Given the description of an element on the screen output the (x, y) to click on. 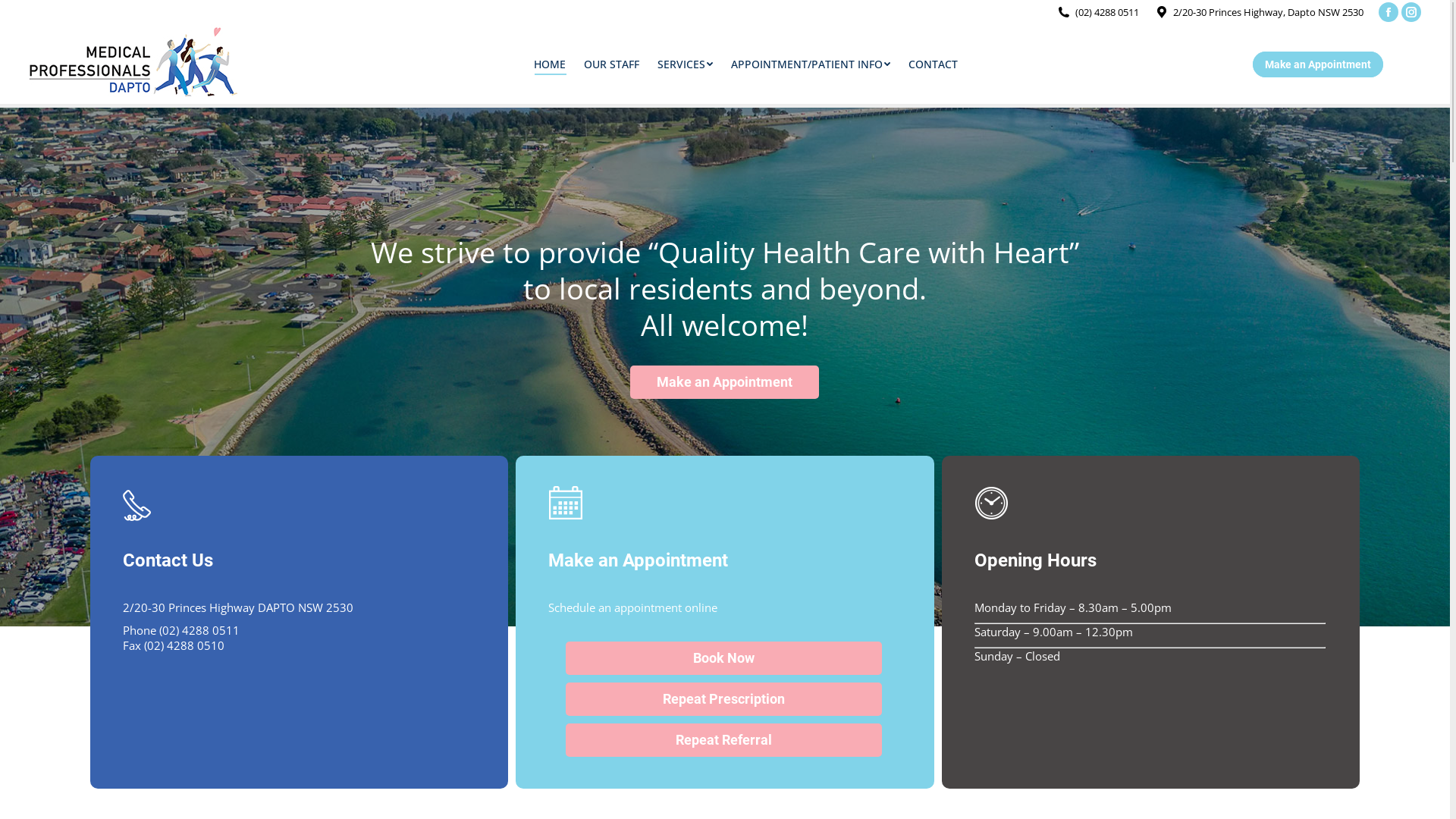
Make an Appointment Element type: text (724, 381)
Book Now Element type: text (723, 657)
h1-custom-icon-7 Element type: hover (137, 503)
Make an Appointment Element type: text (1317, 64)
APPOINTMENT/PATIENT INFO Element type: text (810, 63)
Facebook page opens in new window Element type: text (1388, 11)
CONTACT Element type: text (932, 63)
h1-custom-icon-9 Element type: hover (991, 503)
Repeat Prescription Element type: text (723, 698)
SERVICES Element type: text (684, 63)
OUR STAFF Element type: text (611, 63)
Instagram page opens in new window Element type: text (1411, 11)
HOME Element type: text (549, 63)
Repeat Referral Element type: text (723, 739)
h1-custom-icon-8 Element type: hover (565, 503)
